Given the description of an element on the screen output the (x, y) to click on. 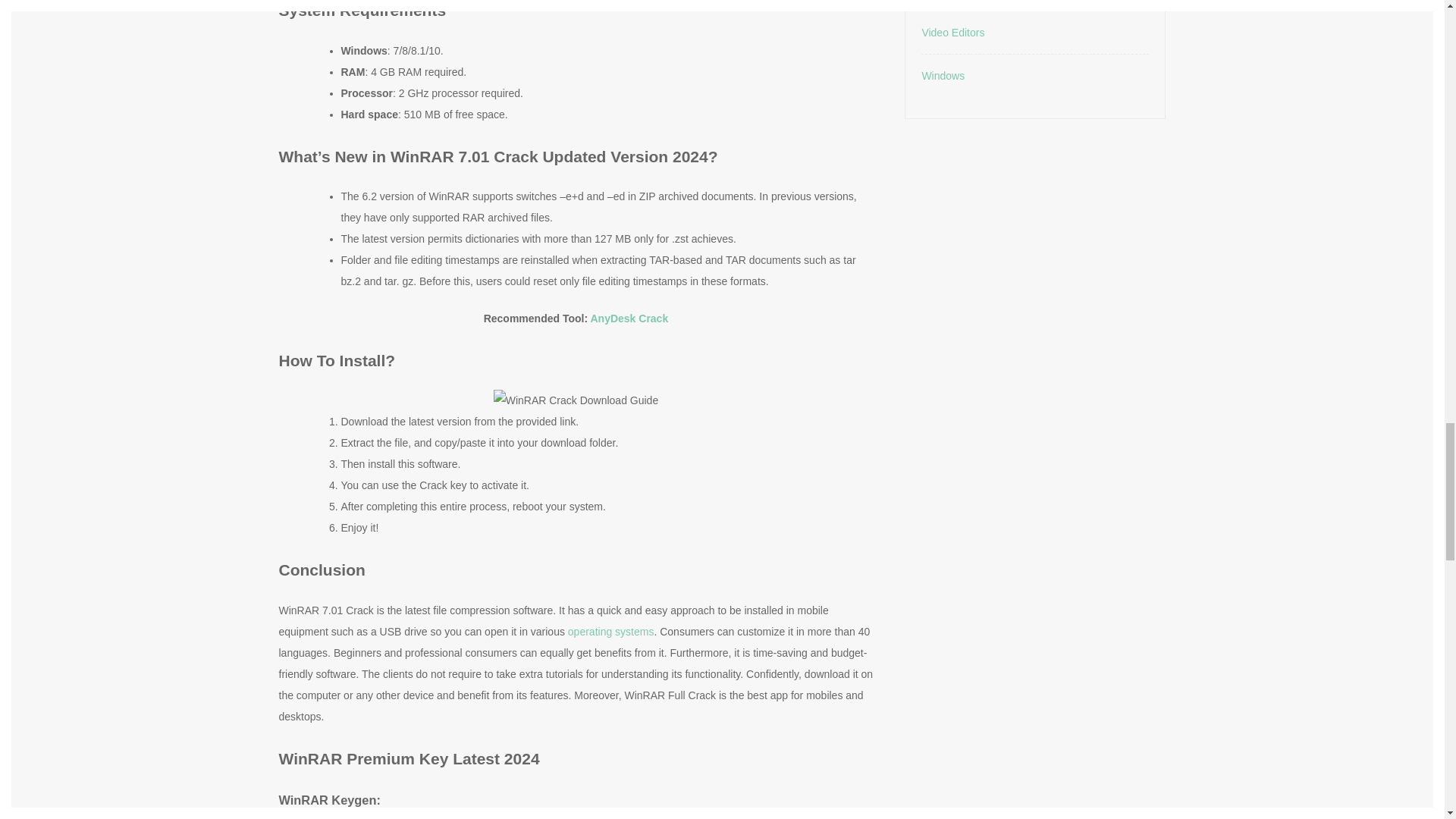
AnyDesk Crack (628, 318)
operating systems (610, 631)
